Given the description of an element on the screen output the (x, y) to click on. 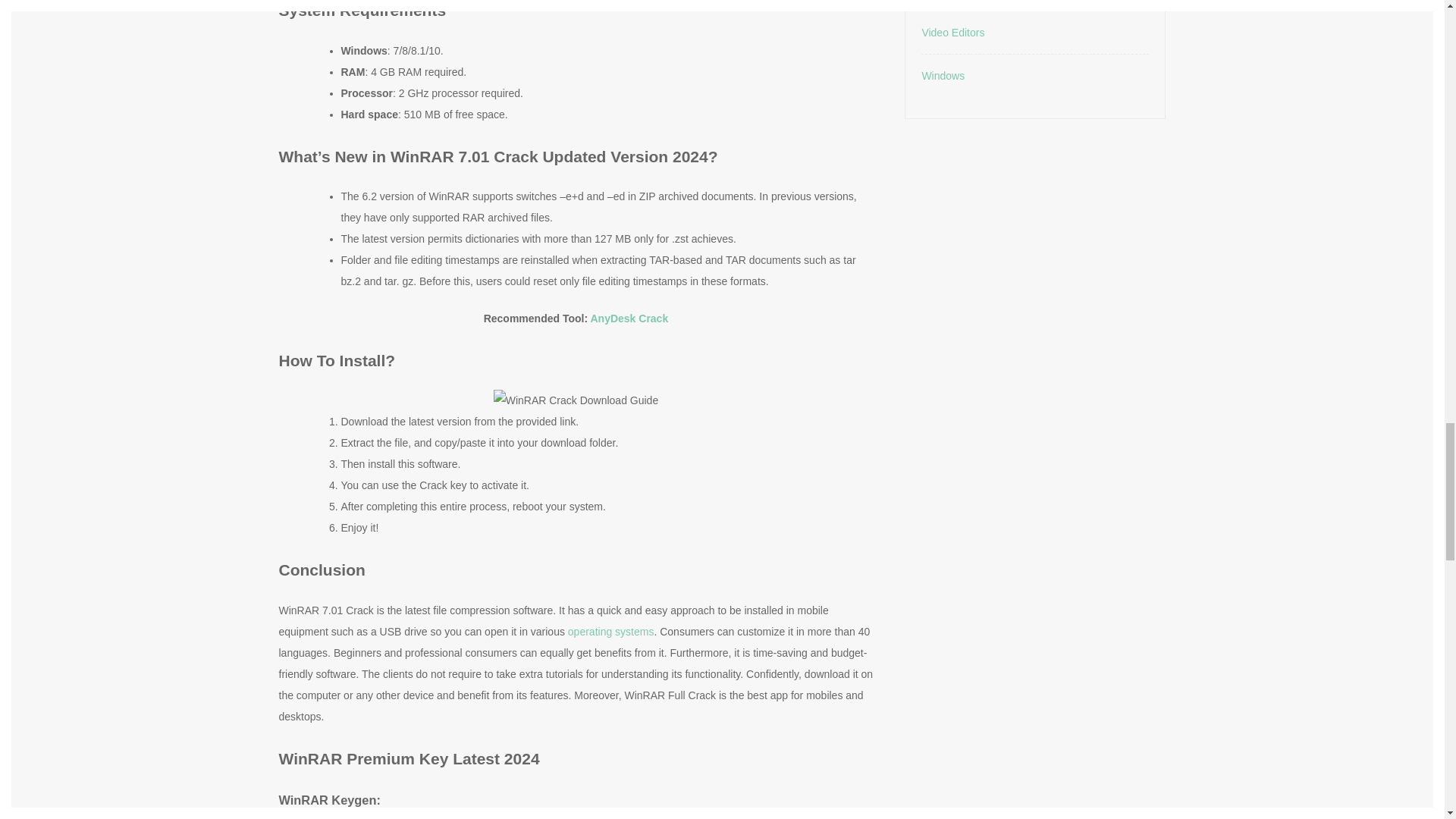
AnyDesk Crack (628, 318)
operating systems (610, 631)
